Given the description of an element on the screen output the (x, y) to click on. 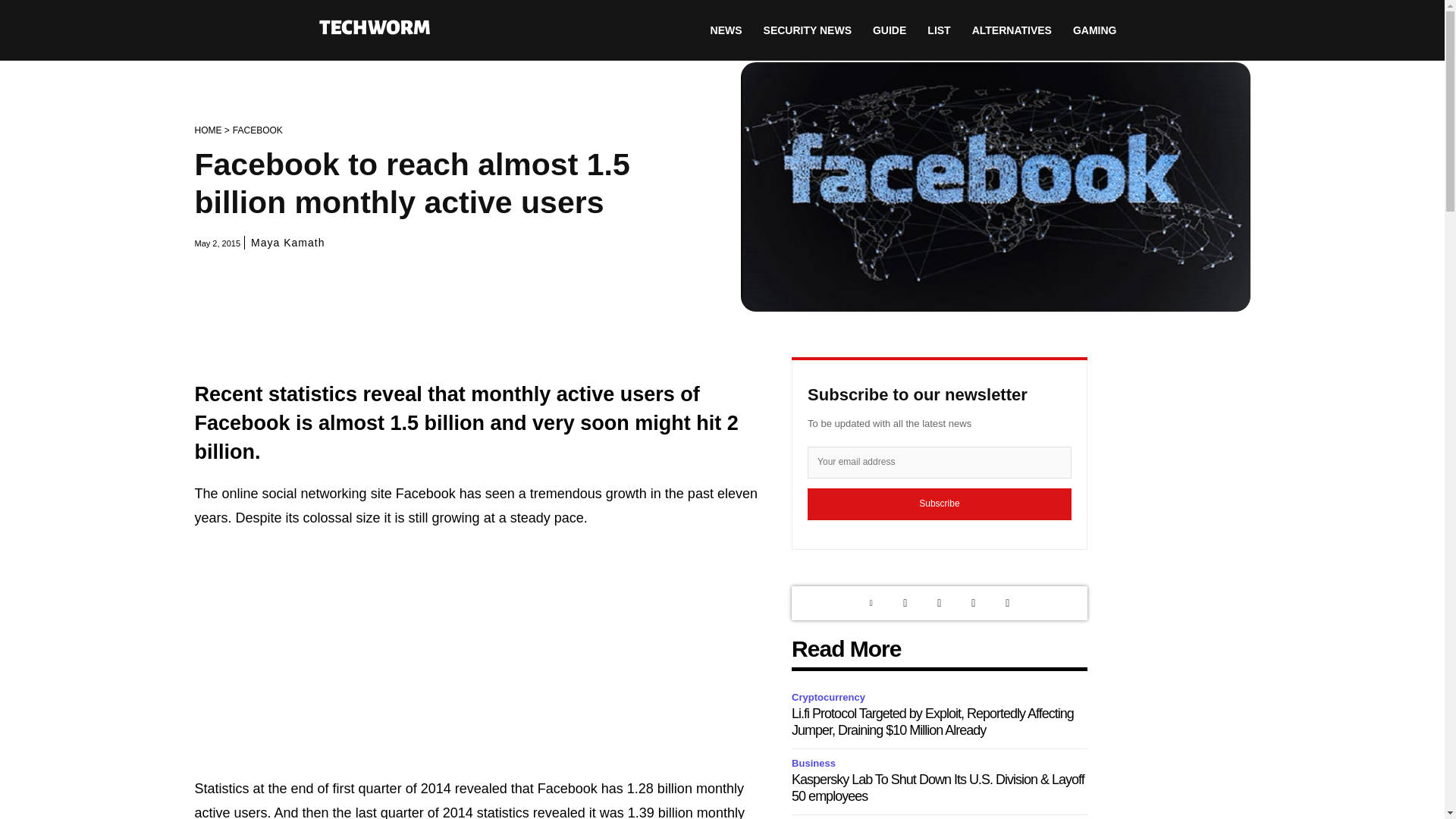
Business (816, 764)
GUIDE (889, 30)
SECURITY NEWS (806, 30)
FACEBOOK (257, 130)
Twitter (904, 602)
Facebook (973, 602)
GAMING (1094, 30)
Youtube (1007, 602)
View all posts in Facebook (257, 130)
Cryptocurrency (830, 697)
Subscribe (939, 504)
Linkedin (870, 602)
Facebook to reach almost 1.5 billion monthly active users (994, 187)
Maya Kamath (287, 242)
ALTERNATIVES (1011, 30)
